Given the description of an element on the screen output the (x, y) to click on. 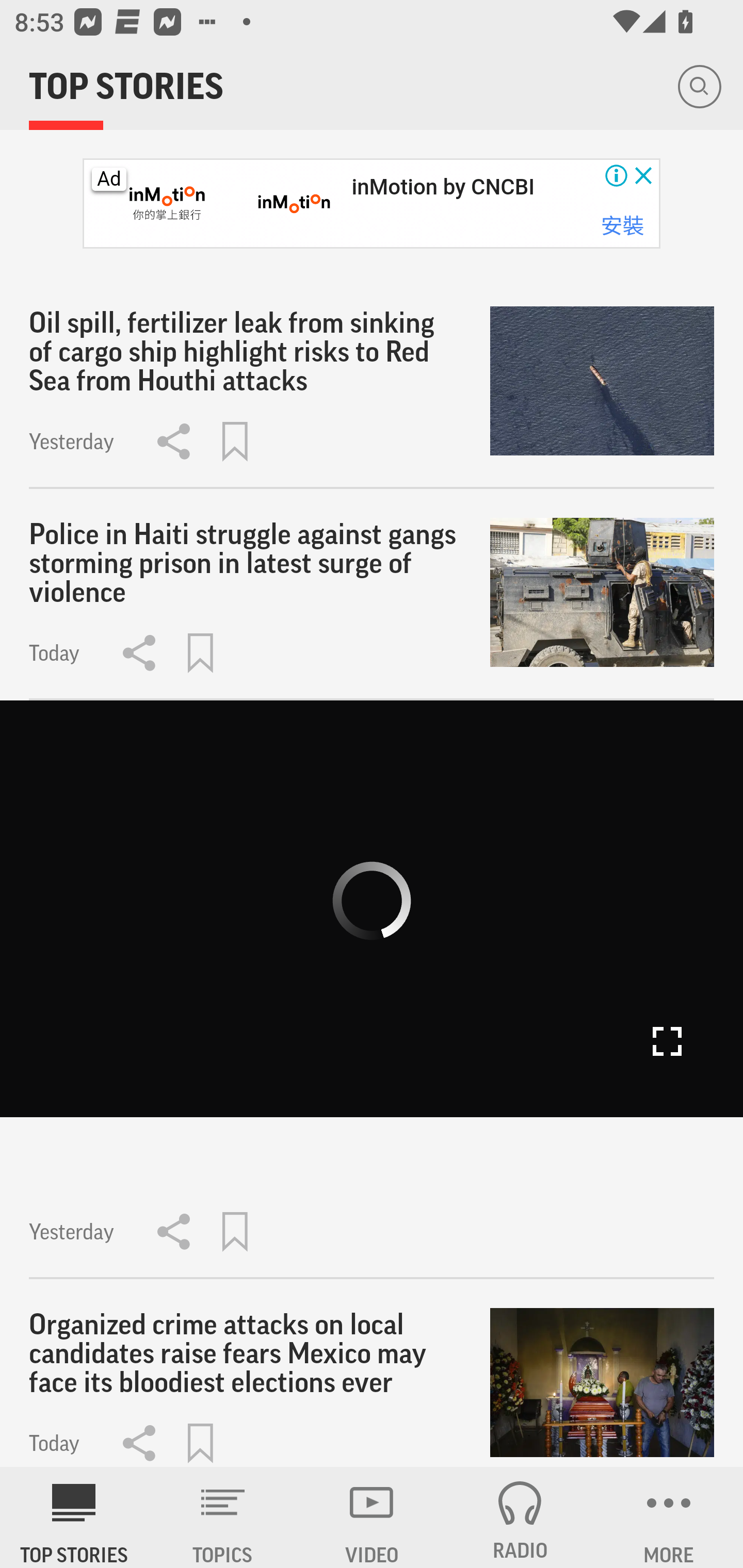
inMotion by CNCBI (442, 187)
安裝 (621, 226)
toggle controls Fullscreen Yesterday (371, 989)
Fullscreen (666, 1040)
AP News TOP STORIES (74, 1517)
TOPICS (222, 1517)
VIDEO (371, 1517)
RADIO (519, 1517)
MORE (668, 1517)
